Given the description of an element on the screen output the (x, y) to click on. 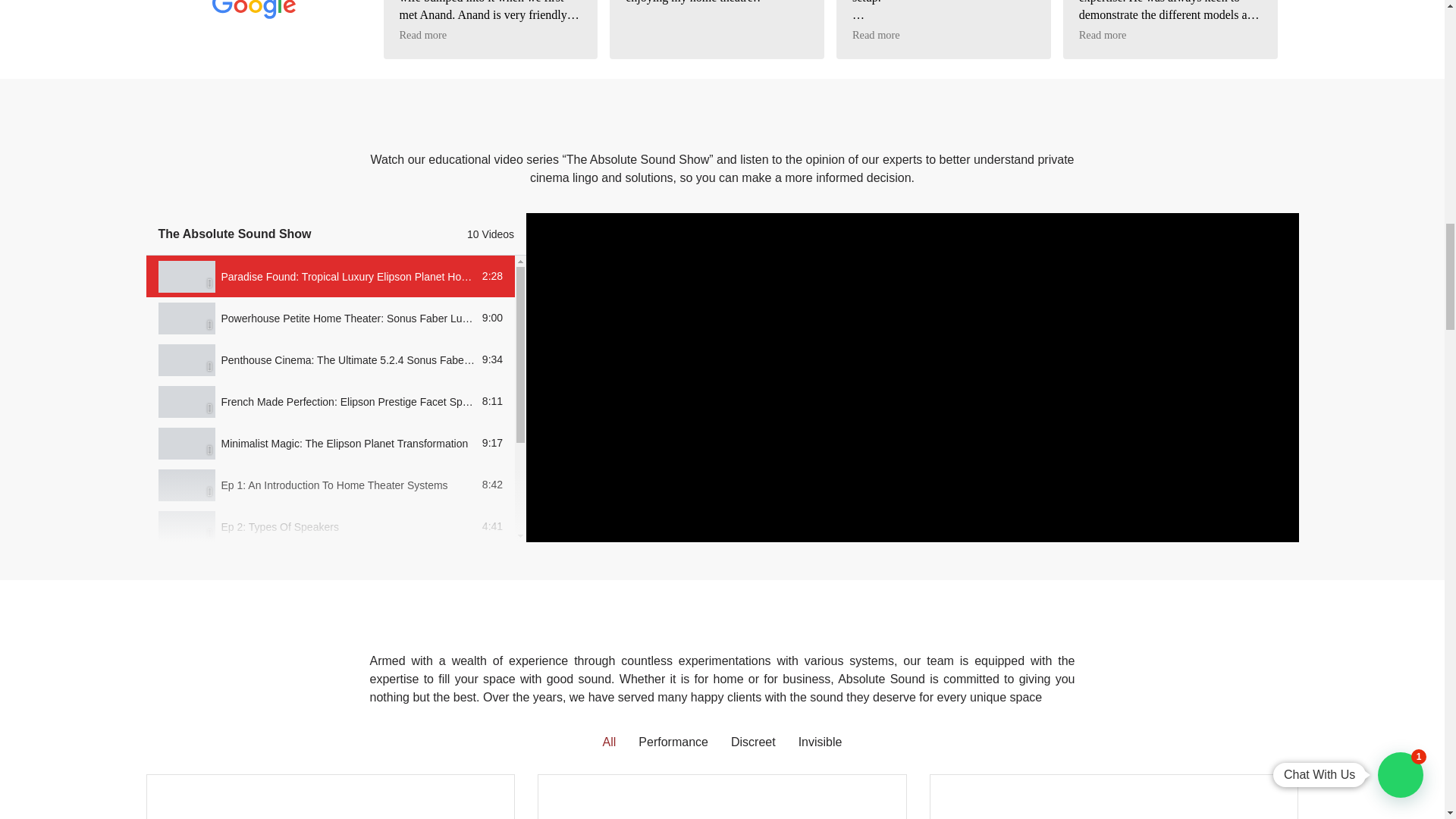
Powerhouse Petite Home Theater: Sonus Faber Lumina (352, 318)
Paradise Found: Tropical Luxury Elipson Planet Home Theater (368, 276)
Minimalist Magic: The Elipson Planet Transformation (344, 443)
Ep 2: Types Of Speakers (280, 526)
French Made Perfection: Elipson Prestige Facet Speakers (358, 401)
Ep 3: Solutions for Condo. HDB, Landed, Private Cinema (355, 568)
Penthouse Cinema: The Ultimate 5.2.4 Sonus Faber Amati (359, 359)
Ep 1: An Introduction To Home Theater Systems (334, 485)
